Given the description of an element on the screen output the (x, y) to click on. 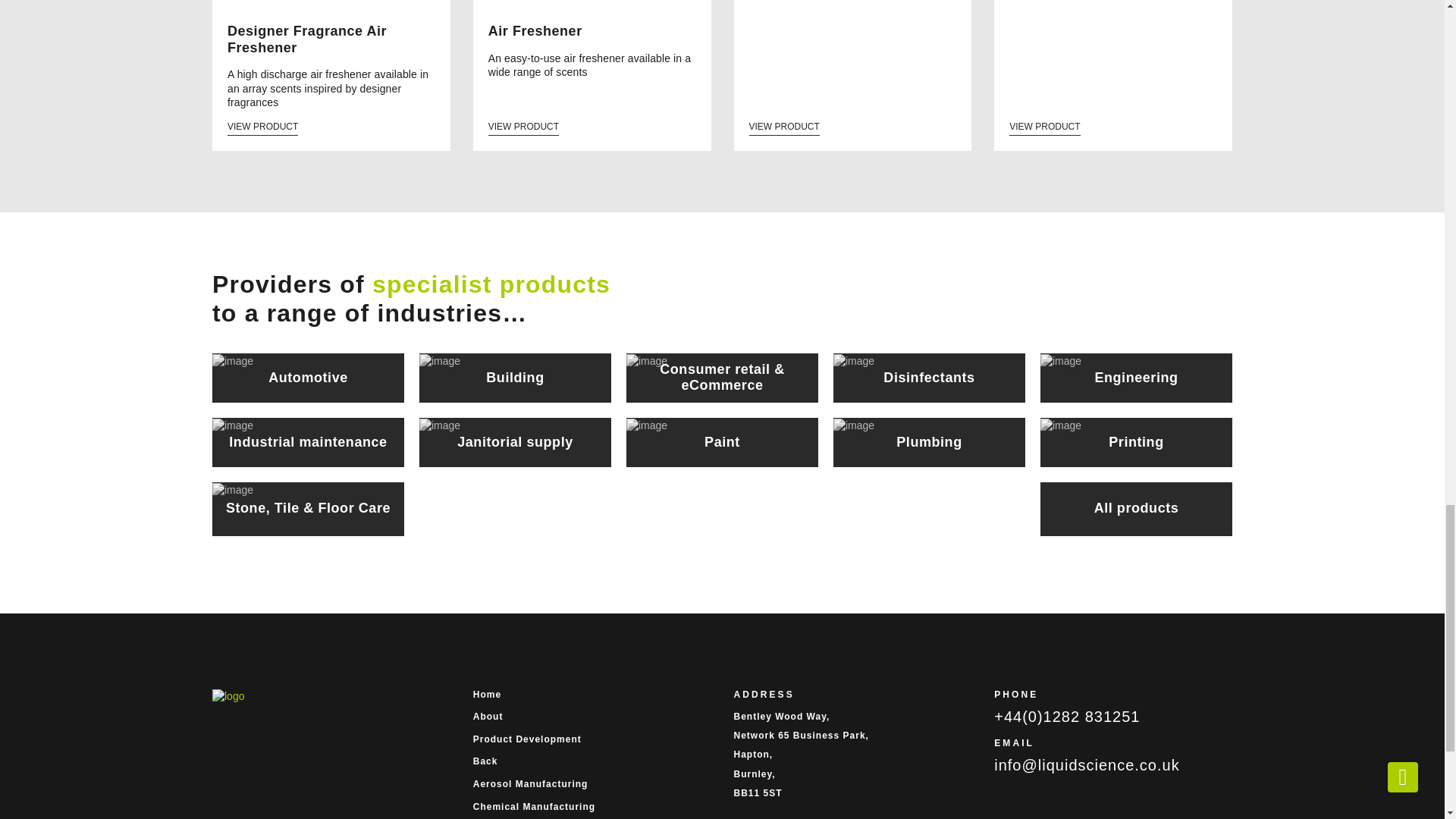
Aerosol Manufacturing (592, 783)
Janitorial supply (515, 441)
Product Development (592, 738)
Disinfectants (928, 377)
Printing (1136, 441)
Paint (722, 441)
Building (515, 377)
